Given the description of an element on the screen output the (x, y) to click on. 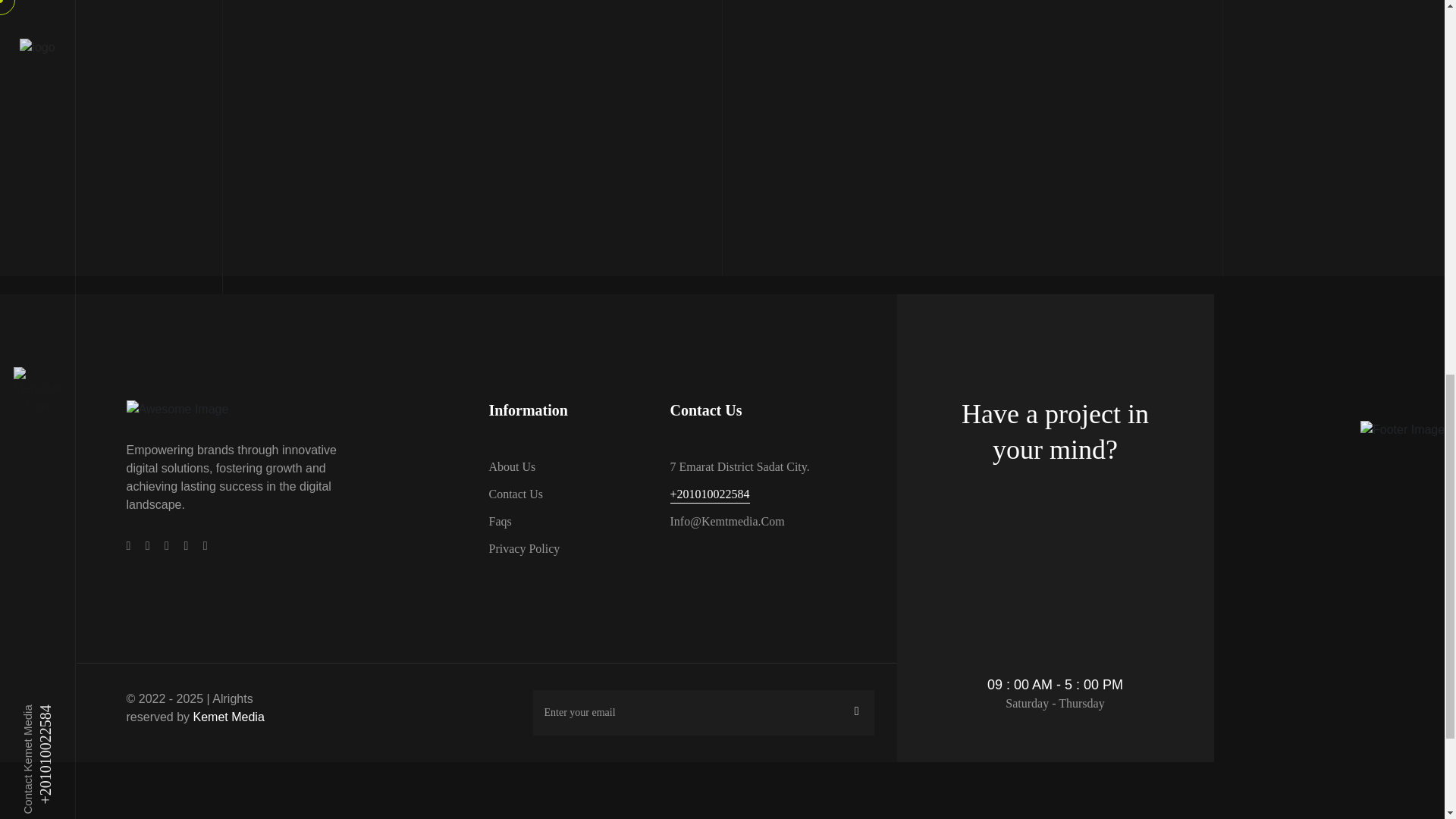
Contact Us (515, 494)
About Us (511, 466)
Faqs (499, 521)
Privacy Policy (523, 548)
Kemet Media (228, 716)
